Given the description of an element on the screen output the (x, y) to click on. 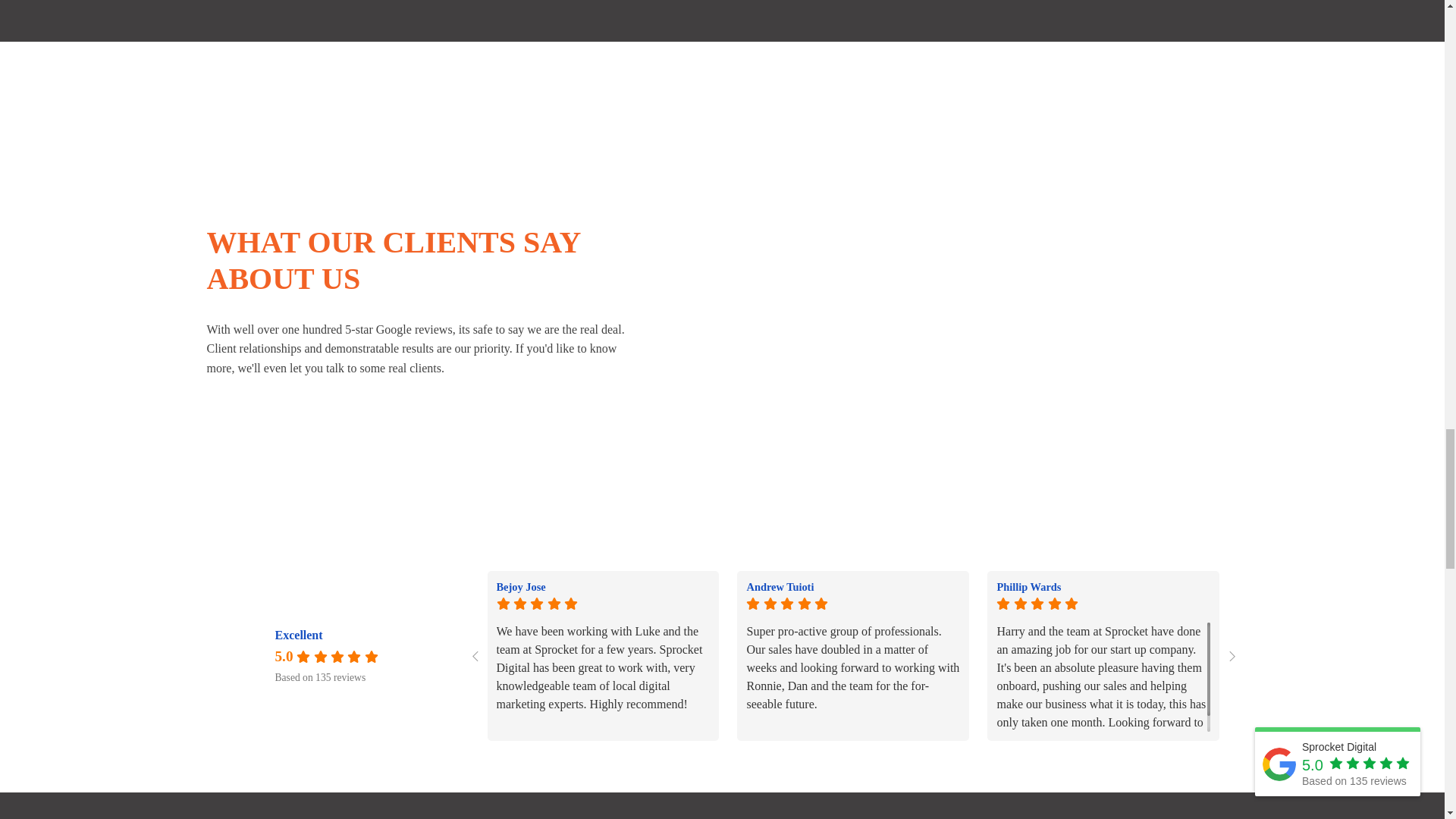
Andrew Tuioti (852, 586)
Phillip Wards (1102, 586)
Bejoy Jose (603, 586)
Sprocket Digital (245, 655)
